Given the description of an element on the screen output the (x, y) to click on. 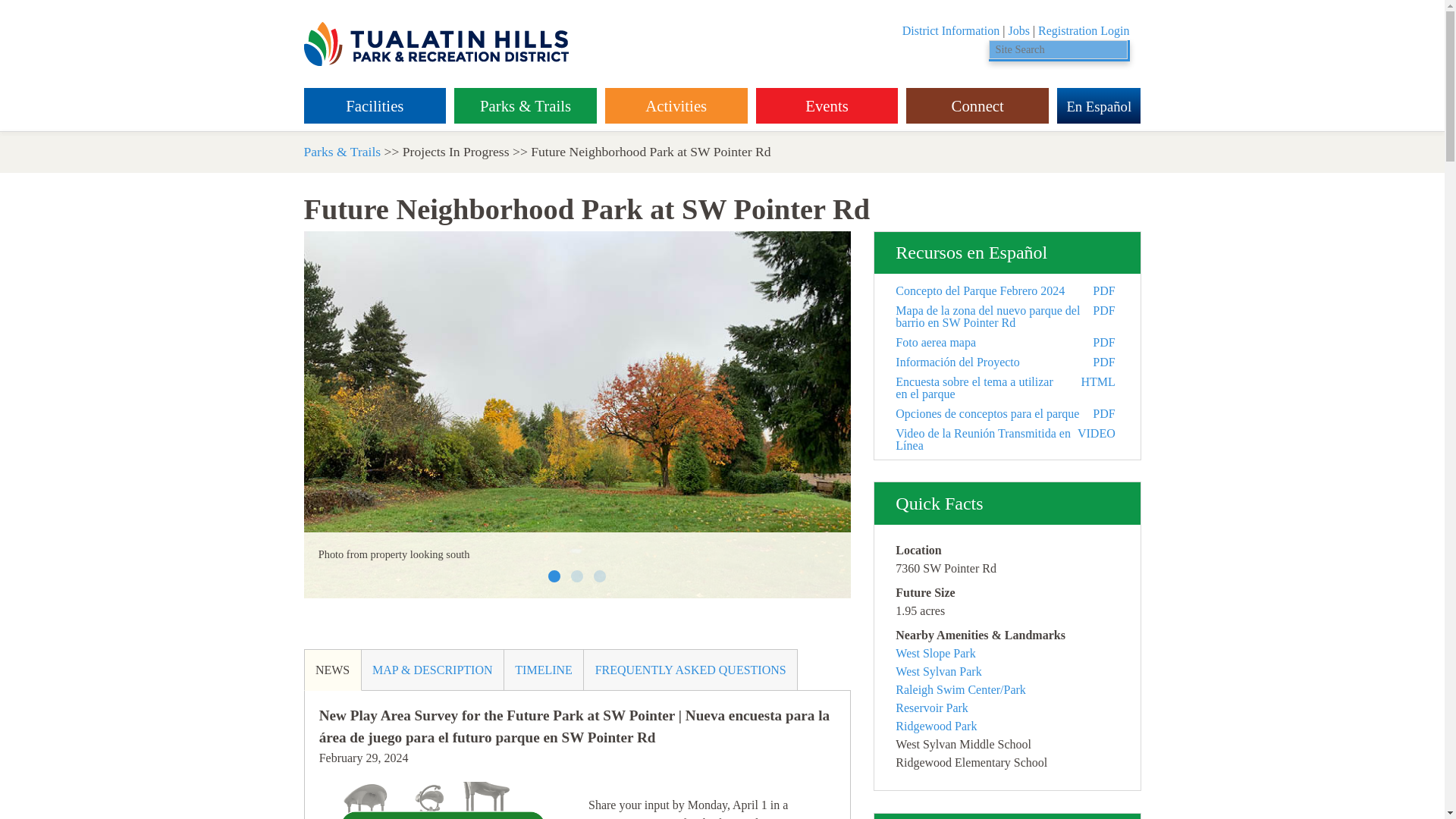
Activities (676, 105)
Connect (976, 105)
Facilities (373, 105)
Jobs (1018, 30)
Search THPRD (1127, 50)
Events (826, 105)
Registration Login (1083, 30)
District Information (950, 30)
